Given the description of an element on the screen output the (x, y) to click on. 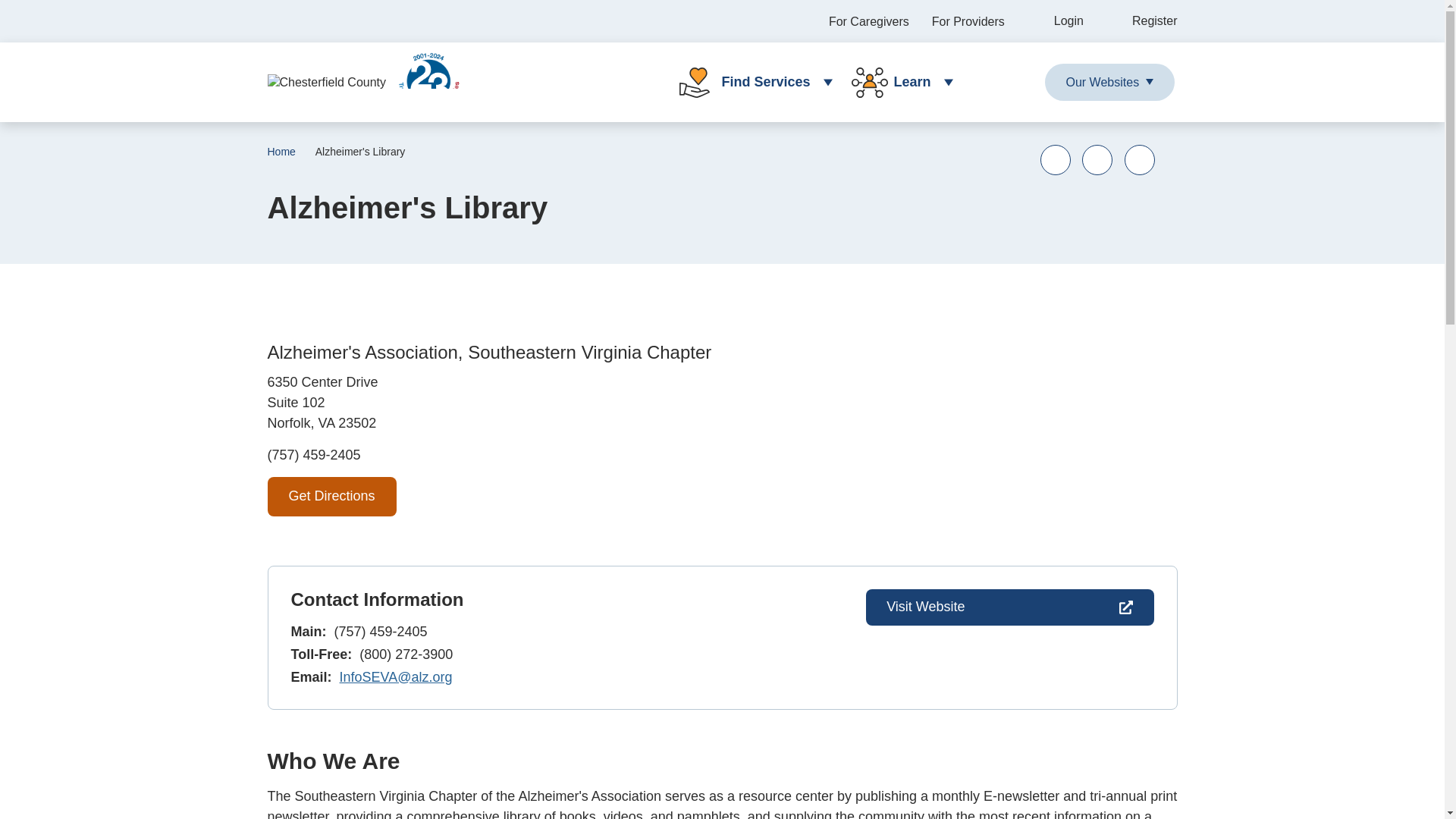
Register (1141, 21)
For Providers (967, 21)
Learn (895, 82)
Find Services (749, 82)
Login (1055, 21)
icon--register (1141, 21)
For Caregivers (868, 21)
